Given the description of an element on the screen output the (x, y) to click on. 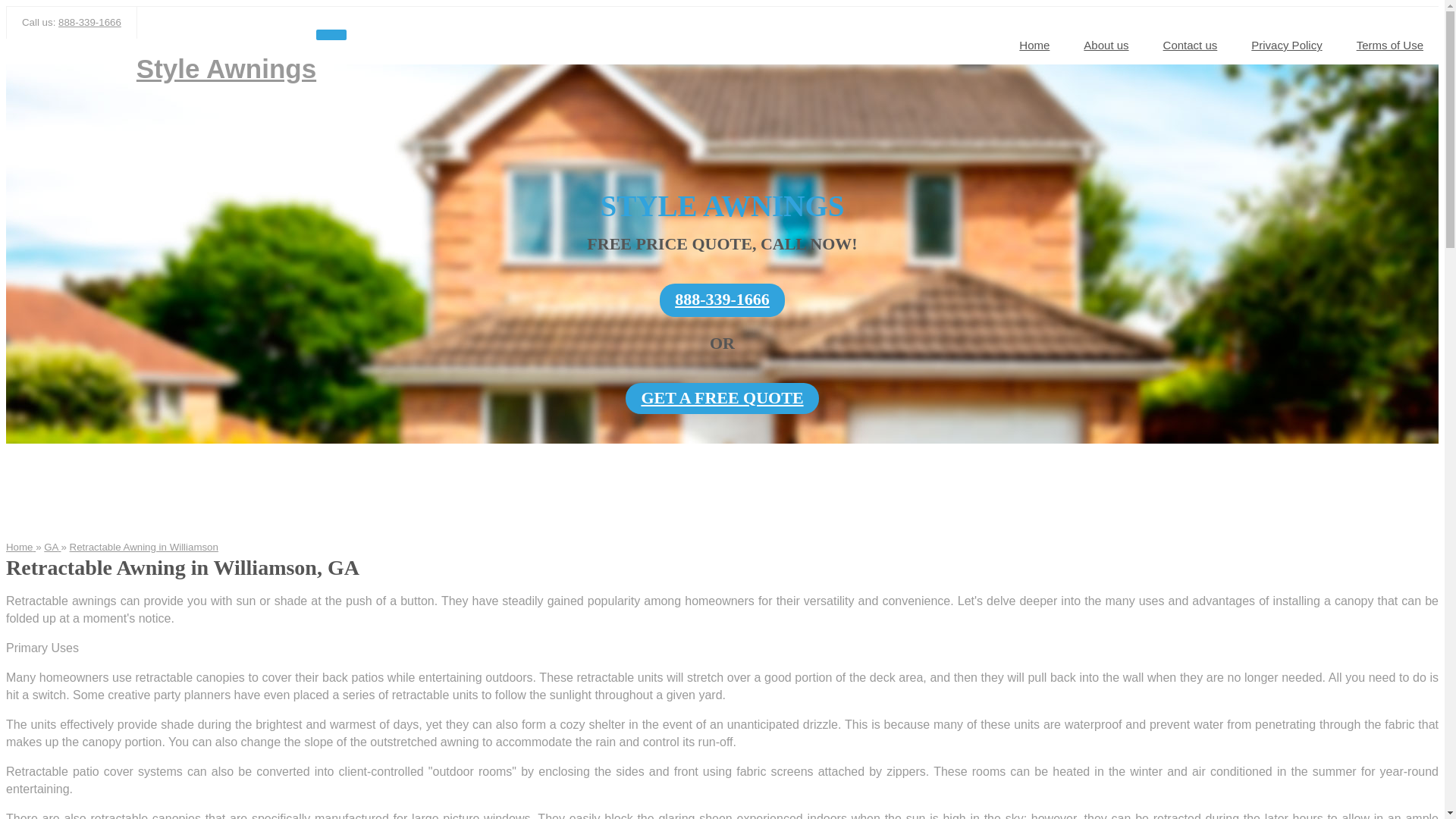
Privacy Policy (1286, 45)
888-339-1666 (721, 299)
Home (1034, 45)
888-339-1666 (89, 21)
About us (1105, 45)
Retractable Awning in Williamson (143, 546)
Style Awnings (225, 68)
Contact us (1190, 45)
GET A FREE QUOTE (722, 398)
Home (19, 546)
GA (52, 546)
